Given the description of an element on the screen output the (x, y) to click on. 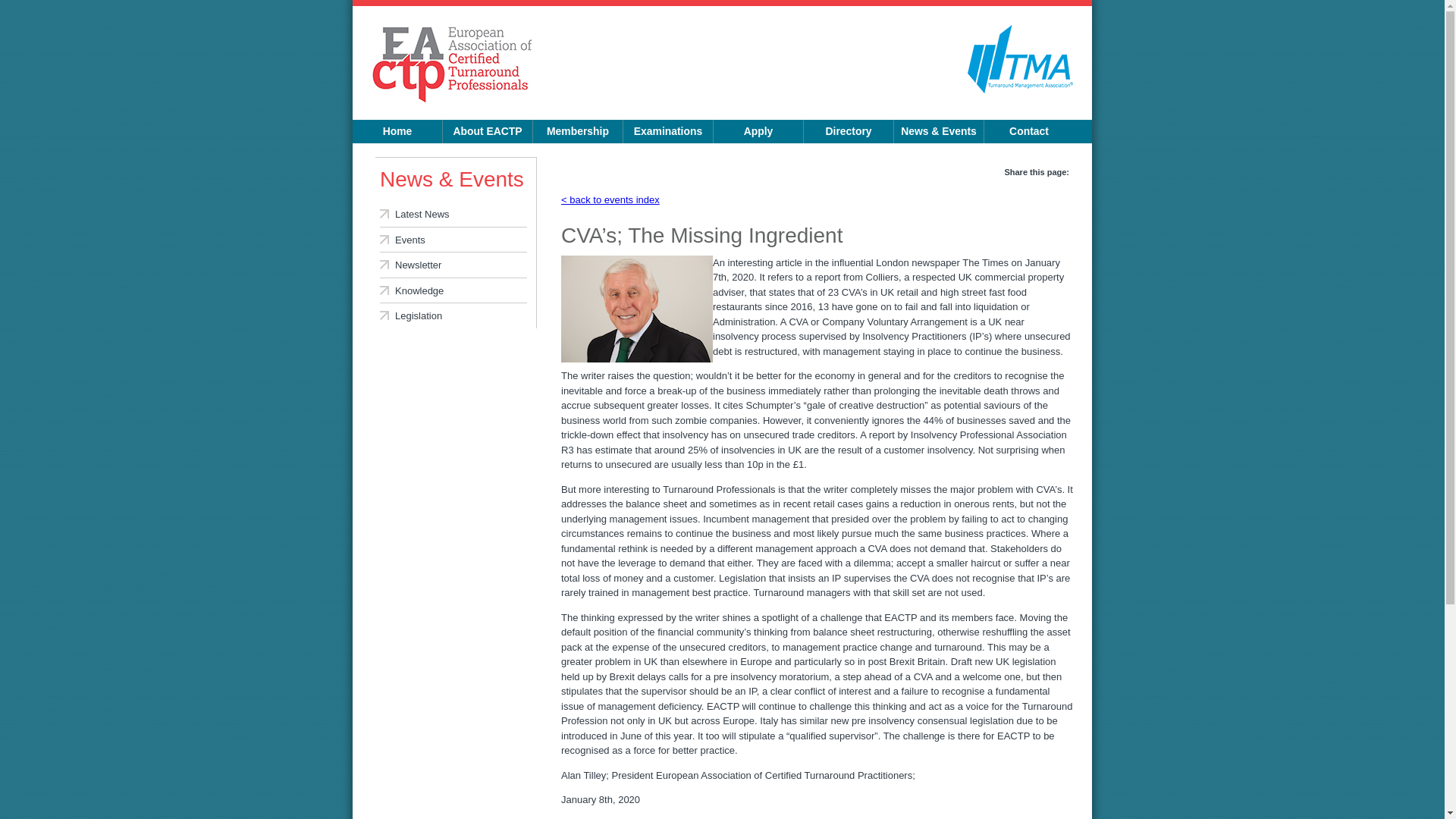
Apply (758, 131)
Membership (577, 131)
European Association of Turnaround Professionals (451, 65)
Home (397, 131)
Go back to the home page (451, 65)
Turnaround Management Association (1020, 88)
Examinations (668, 131)
Events (453, 239)
About EACTP (487, 131)
Latest News (453, 213)
Contact (1029, 131)
Knowledge (453, 290)
Directory (848, 131)
Newsletter (453, 264)
